Given the description of an element on the screen output the (x, y) to click on. 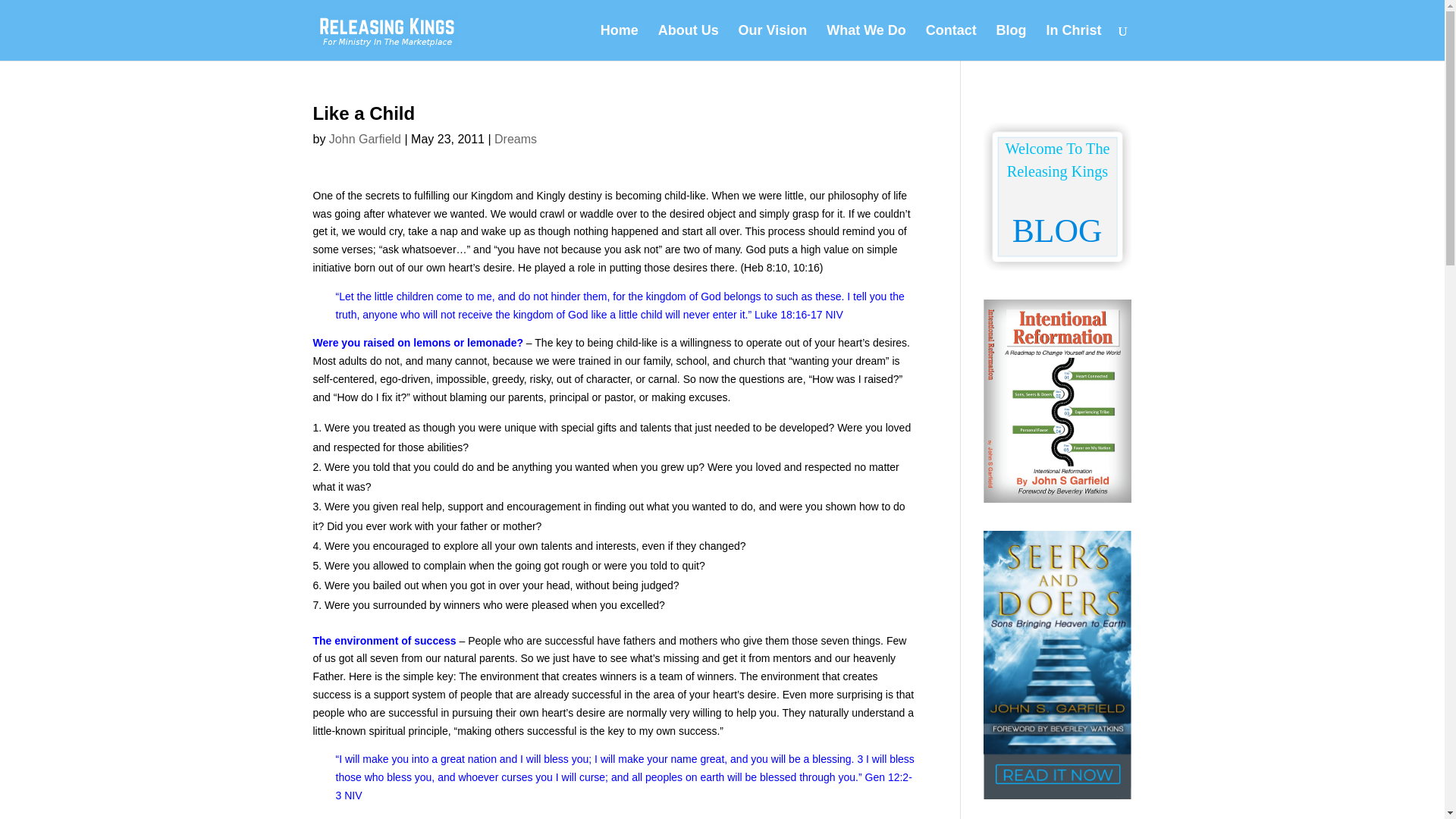
About Us (688, 42)
In Christ (1072, 42)
Contact (951, 42)
Our Vision (773, 42)
John Garfield (365, 138)
Posts by John Garfield (365, 138)
Dreams (516, 138)
What We Do (866, 42)
Home (619, 42)
